Given the description of an element on the screen output the (x, y) to click on. 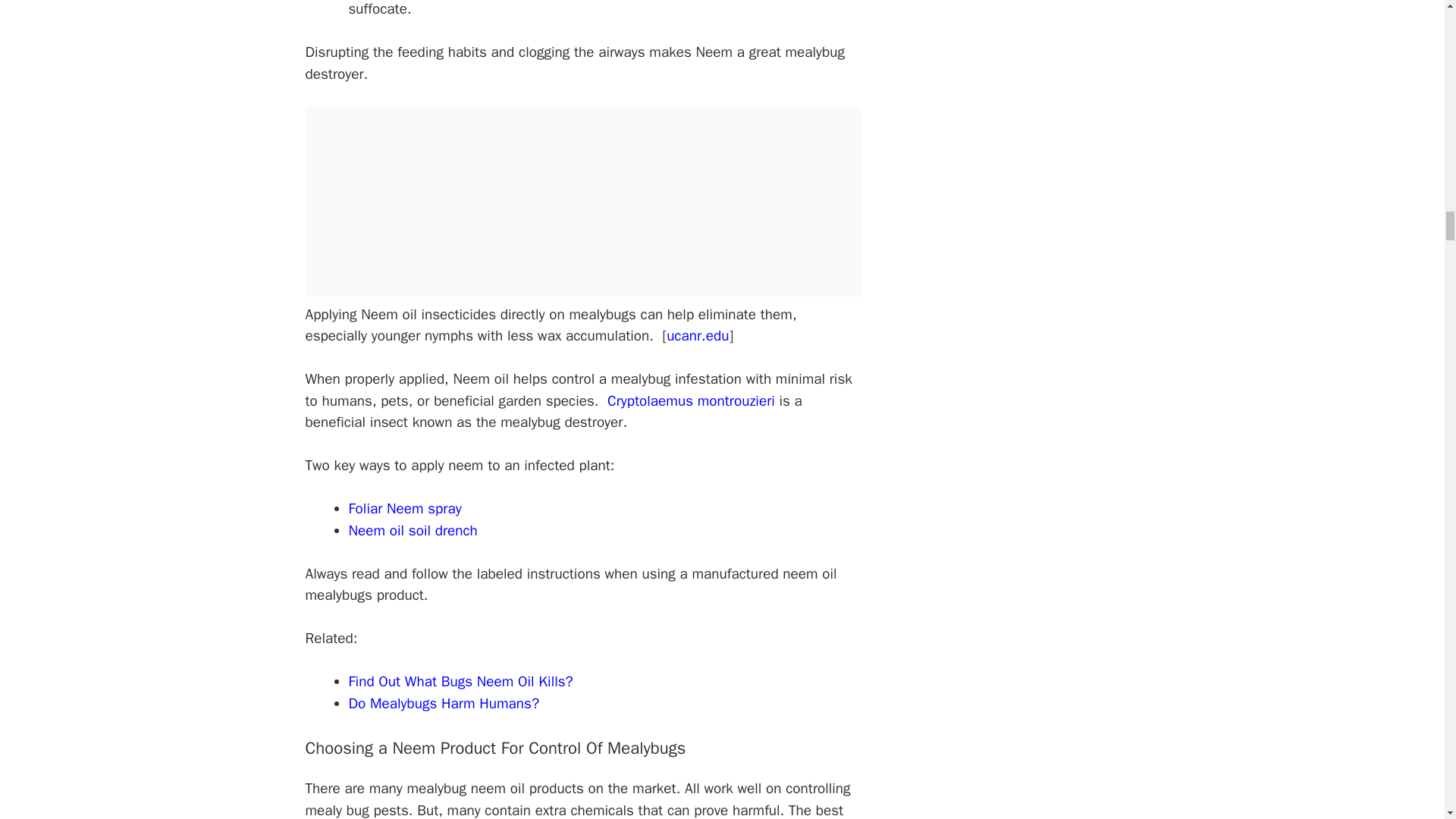
Neem oil soil drench (413, 530)
Cryptolaemus montrouzieri (690, 401)
ucanr.edu (697, 335)
Find Out What Bugs Neem Oil Kills? (461, 681)
Foliar Neem spray (405, 508)
